Given the description of an element on the screen output the (x, y) to click on. 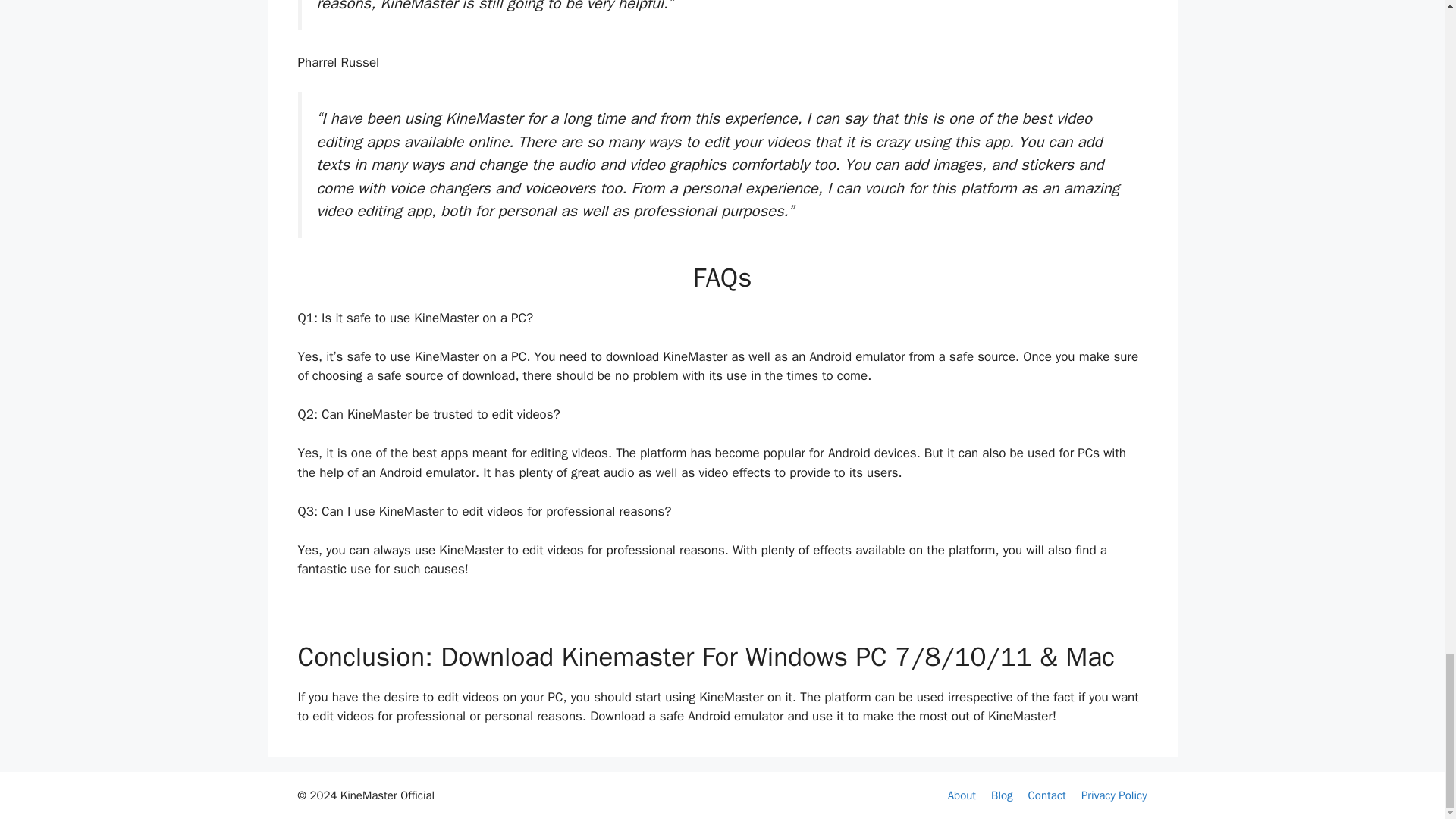
About (961, 795)
Blog (1001, 795)
Privacy Policy (1114, 795)
Contact (1046, 795)
